Given the description of an element on the screen output the (x, y) to click on. 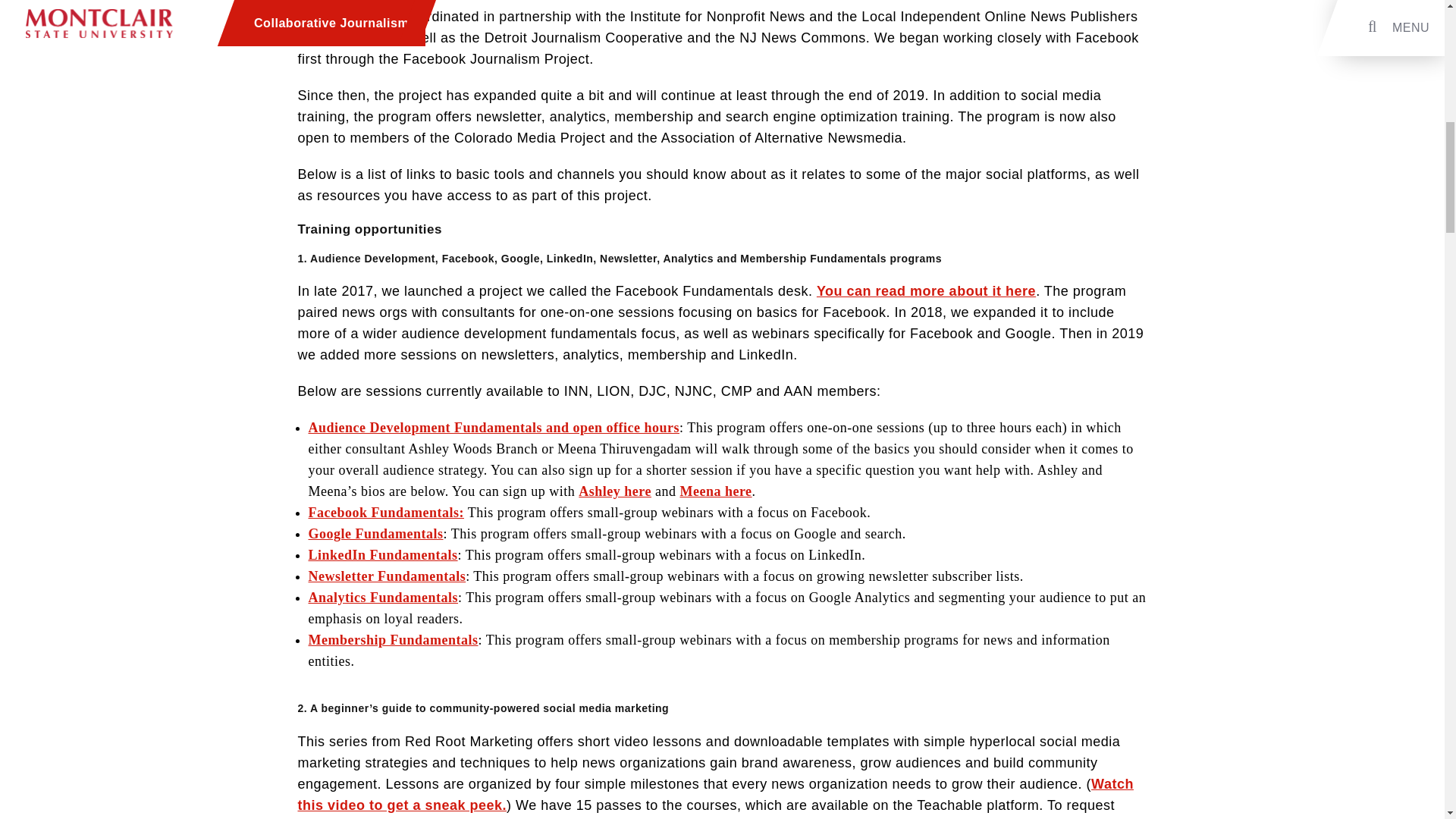
Membership Fundamentals (392, 639)
LinkedIn Fundamentals (382, 554)
Analytics Fundamentals (382, 597)
Newsletter Fundamentals (386, 575)
Google Fundamentals (374, 533)
You can read more about it here (925, 290)
Facebook Fundamentals: (385, 512)
Ashley here (614, 491)
Watch this video to get a sneak peek. (714, 794)
Meena here (715, 491)
